Given the description of an element on the screen output the (x, y) to click on. 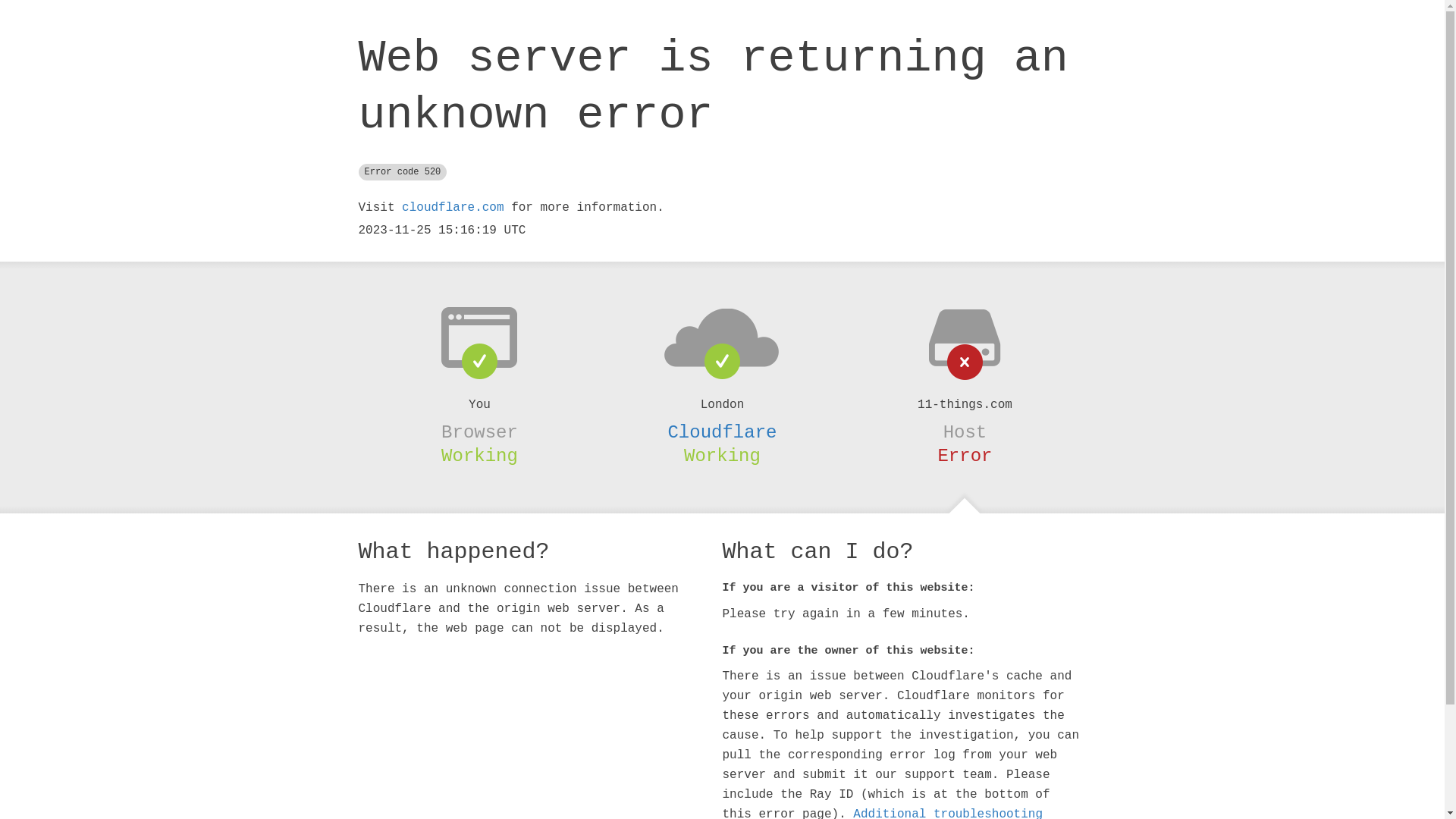
cloudflare.com Element type: text (452, 207)
Cloudflare Element type: text (721, 432)
